Given the description of an element on the screen output the (x, y) to click on. 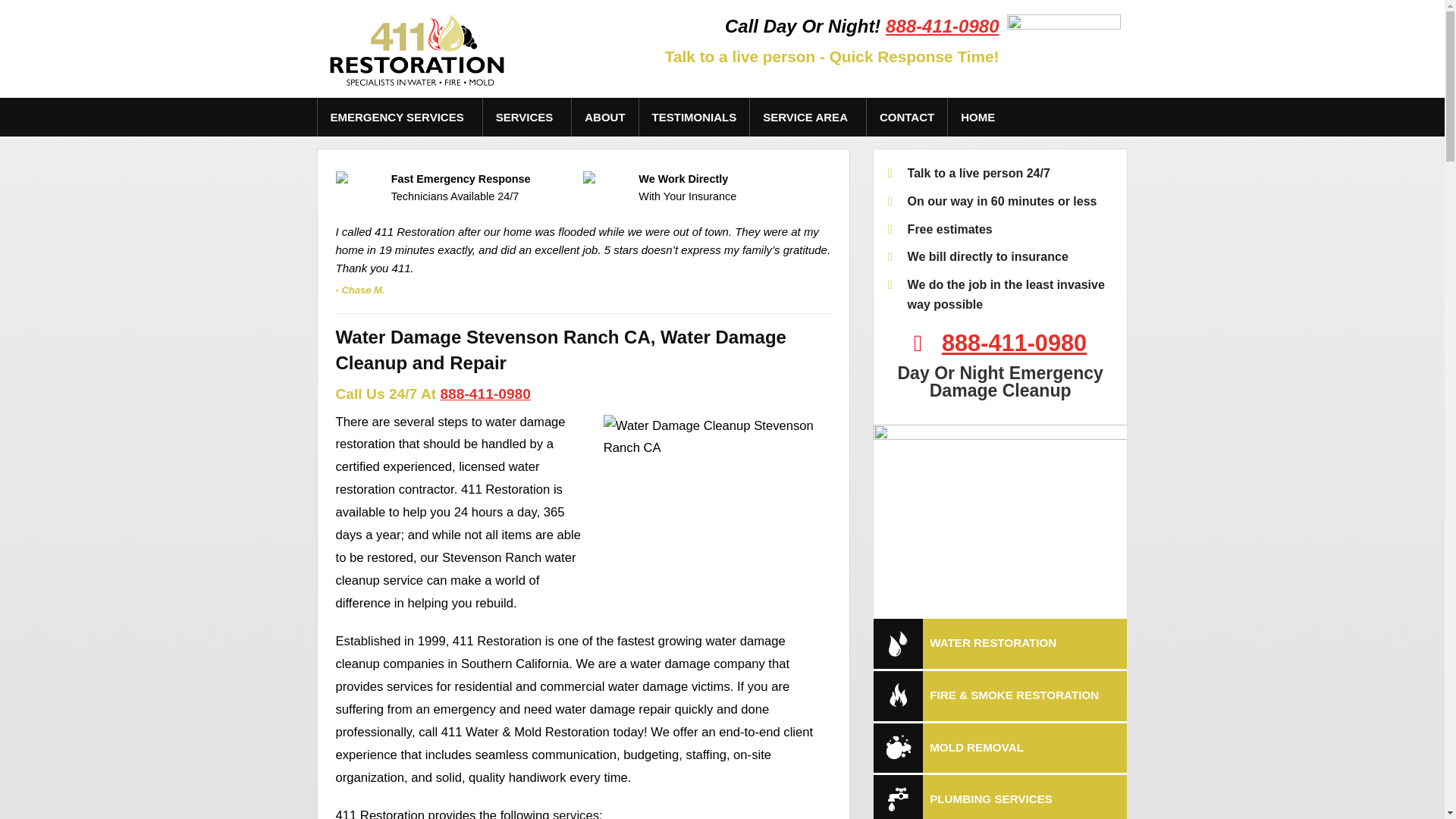
411 Restoration Element type: hover (416, 48)
SERVICE AREA Element type: text (807, 116)
Plumbing Services Element type: text (527, 310)
Mold Removal Element type: text (527, 232)
TESTIMONIALS Element type: text (694, 116)
Lancaster CA Element type: text (807, 232)
Fire Damage And Smoke Restoration Element type: text (527, 194)
Trauma & Crime Scene Cleanup Element type: text (527, 348)
Quartz Hill CA Element type: text (807, 310)
San Fernando Valley CA Element type: text (807, 348)
Tehachapi CA Element type: text (807, 464)
Emergency Plumbing Element type: text (398, 194)
CONTACT Element type: text (906, 116)
SERVICES Element type: text (527, 116)
Water Restoration Element type: text (527, 155)
MOLD REMOVAL Element type: text (1000, 748)
888-411-0980 Element type: text (1013, 342)
EMERGENCY SERVICES Element type: text (398, 116)
888-411-0980 Element type: text (941, 25)
Hoarders Cleanup Element type: text (527, 387)
Agua Dulce CA Element type: text (807, 194)
ABOUT Element type: text (604, 116)
Acton CA Element type: text (807, 155)
Valencia CA Element type: text (807, 503)
888-411-0980 Element type: text (484, 393)
Stevenson Ranch CA Element type: text (807, 426)
Santa Clarita CA Element type: text (807, 387)
FIRE & SMOKE RESTORATION Element type: text (1000, 696)
WATER RESTORATION Element type: text (1000, 643)
Palmdale CA Element type: text (807, 271)
Emergency Services Element type: text (398, 155)
HOME Element type: text (977, 116)
Deep Cleaning & Disinfection Services Element type: text (527, 271)
